Given the description of an element on the screen output the (x, y) to click on. 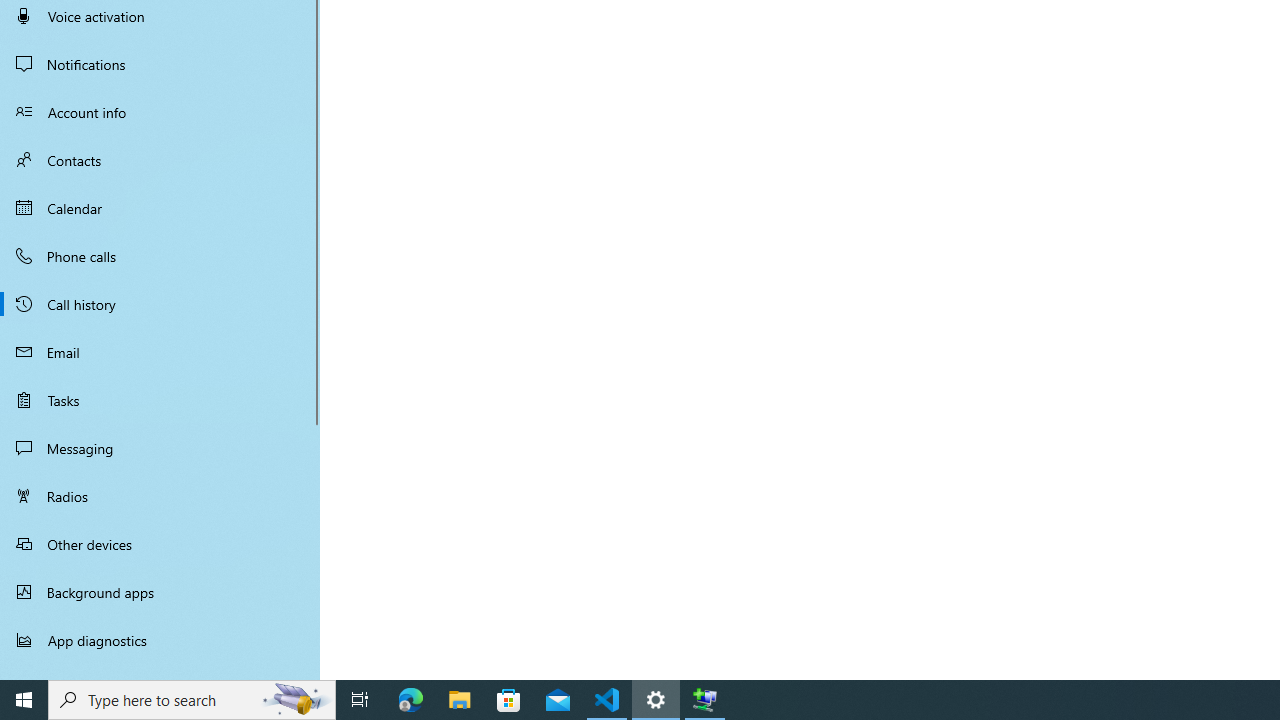
Tasks (160, 399)
Messaging (160, 448)
Contacts (160, 160)
Phone calls (160, 255)
Extensible Wizards Host Process - 1 running window (704, 699)
App diagnostics (160, 639)
Notifications (160, 63)
Other devices (160, 543)
Call history (160, 304)
